Given the description of an element on the screen output the (x, y) to click on. 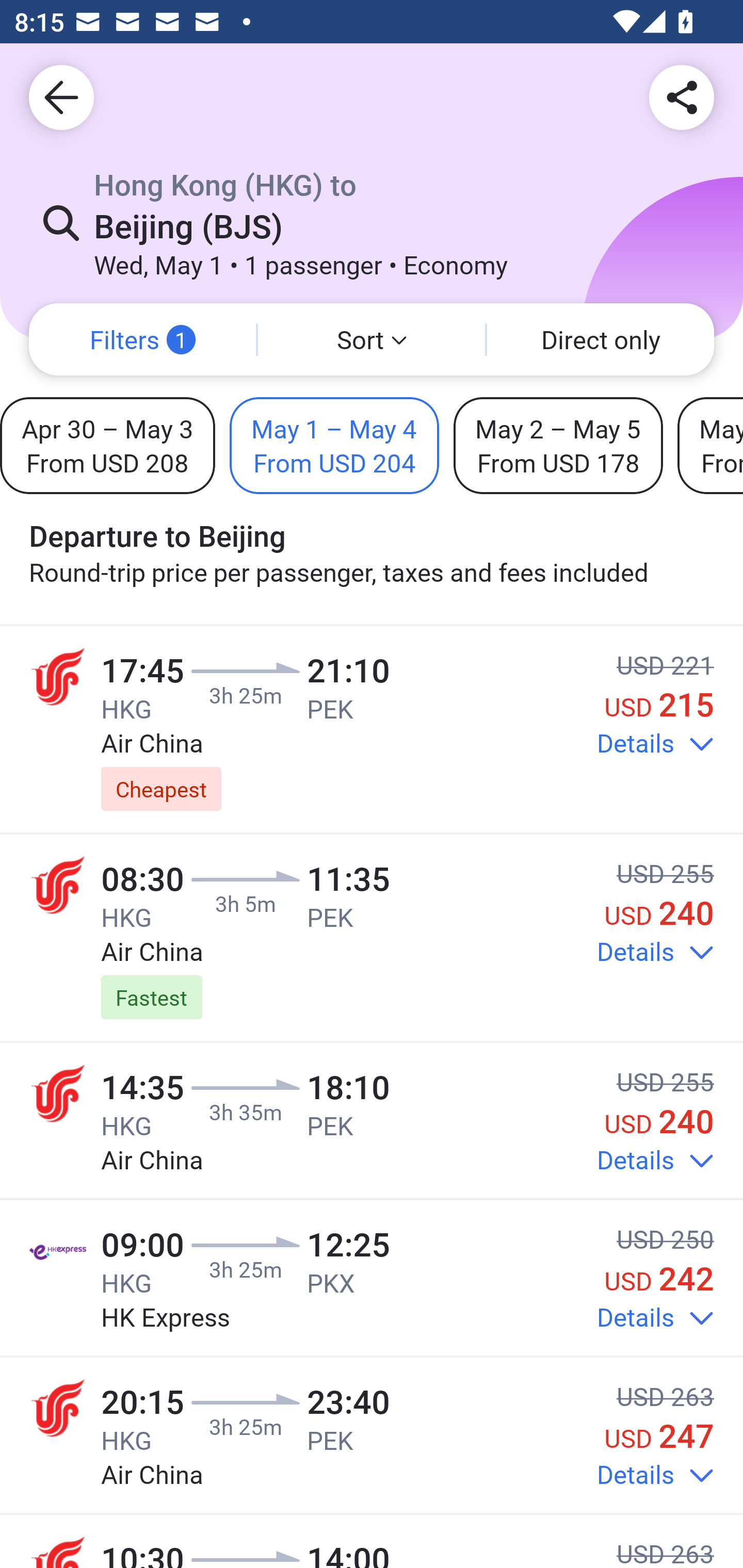
Filters 1 (141, 339)
Sort (371, 339)
Direct only (600, 339)
Apr 30 – May 3 From USD 208 (107, 444)
May 1 – May 4 From USD 204 (334, 444)
May 2 – May 5 From USD 178 (557, 444)
